Given the description of an element on the screen output the (x, y) to click on. 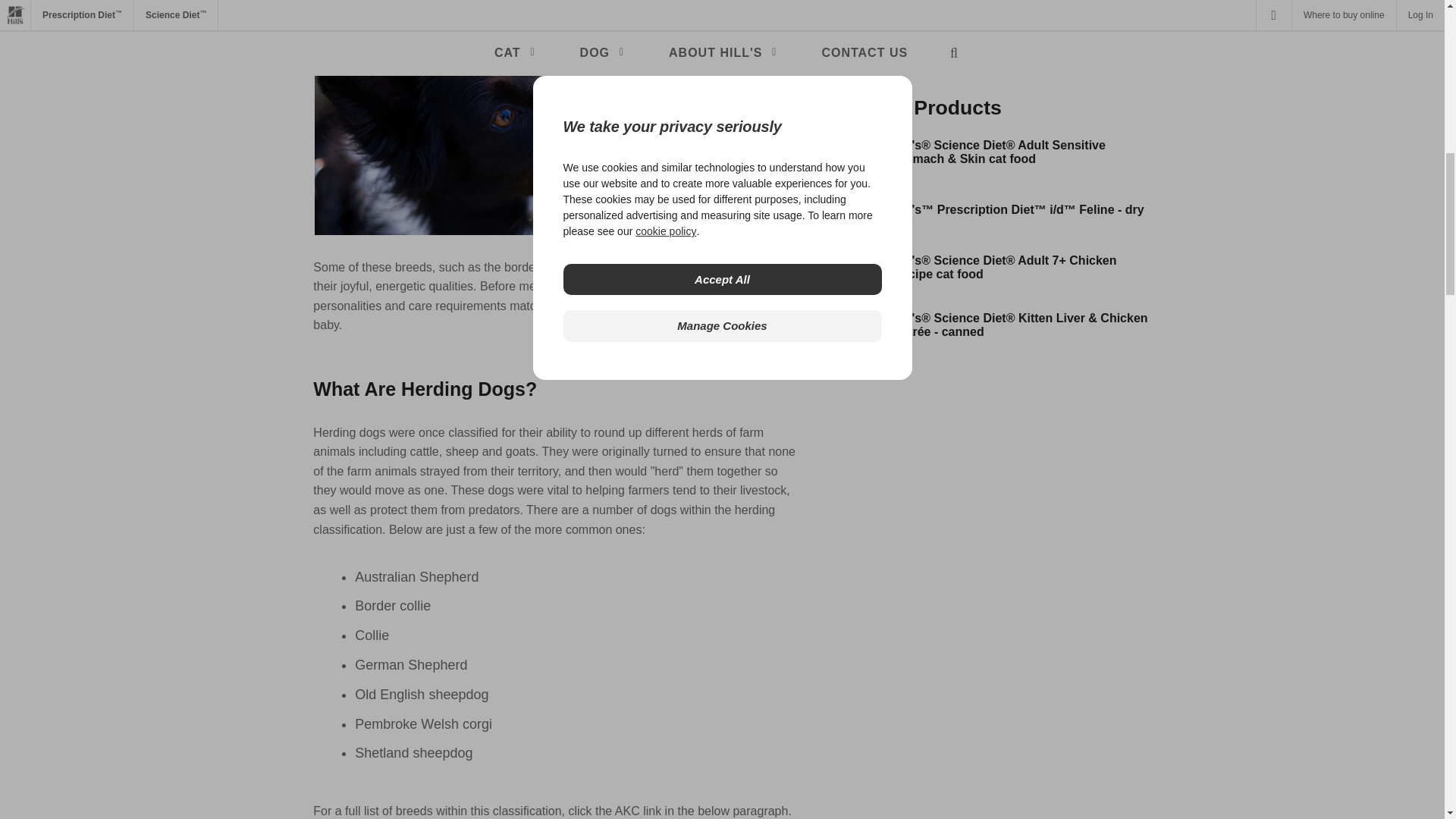
black-and-white-border-collie-looking-up (556, 117)
